Given the description of an element on the screen output the (x, y) to click on. 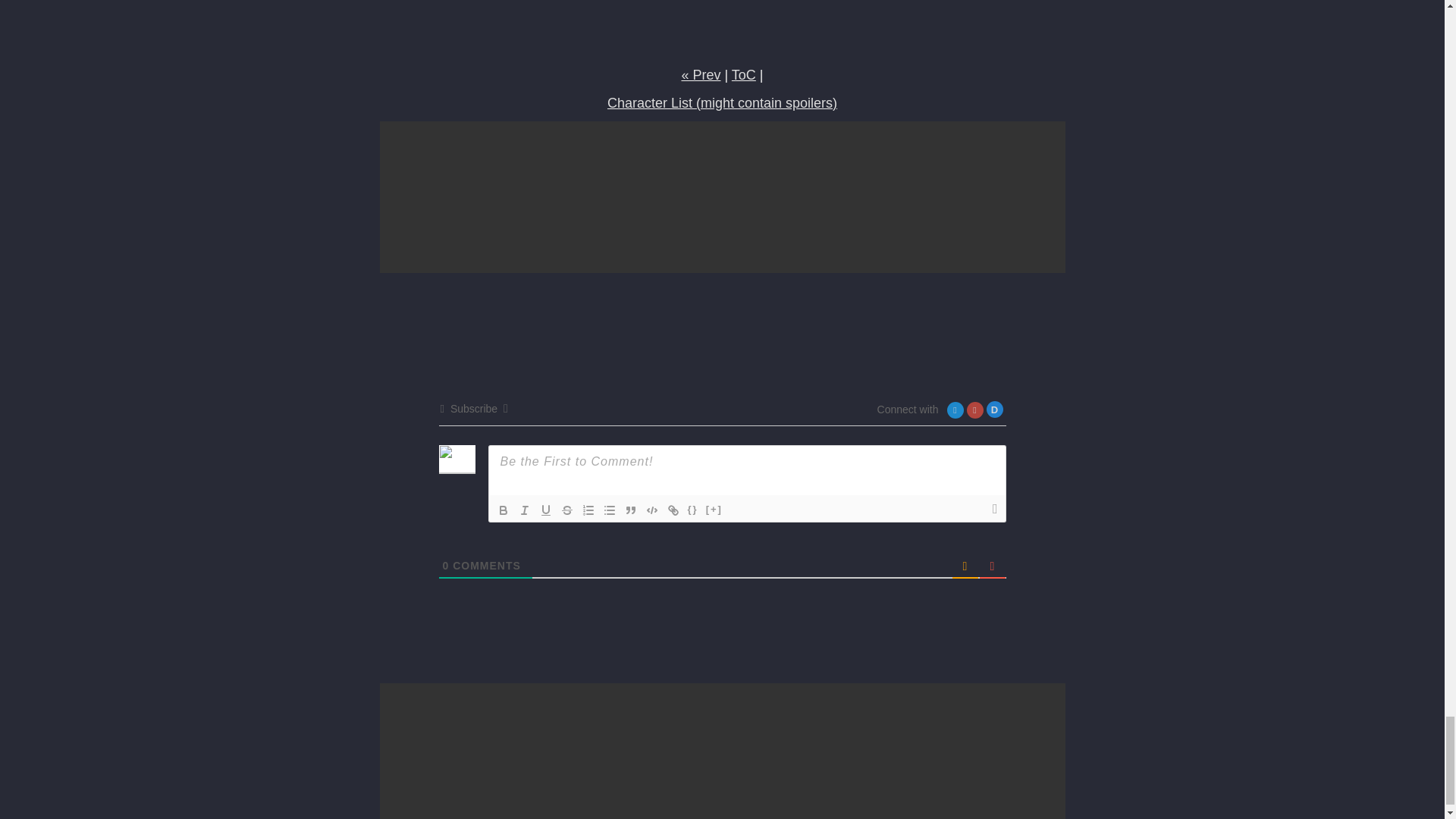
bullet (609, 510)
Underline (545, 510)
Spoiler (713, 510)
Ordered List (588, 510)
Blockquote (631, 510)
Link (673, 510)
ToC (743, 74)
Bold (503, 510)
Code Block (652, 510)
ordered (588, 510)
Source Code (692, 510)
Unordered List (609, 510)
Strike (567, 510)
Italic (524, 510)
